Given the description of an element on the screen output the (x, y) to click on. 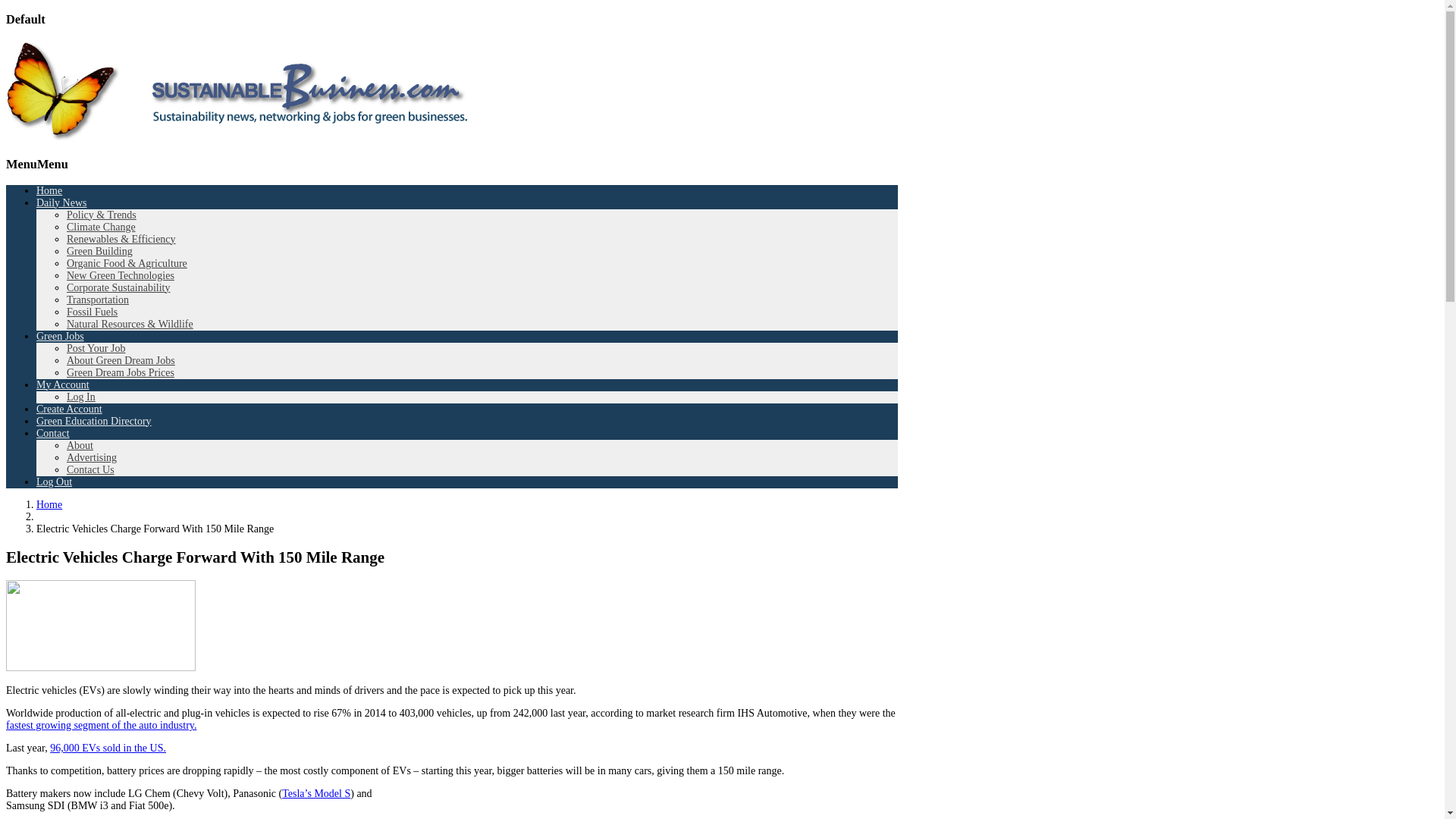
Climate Change (100, 226)
Log Out (53, 481)
About Green Dream Jobs (120, 360)
Contact Us (90, 469)
Create Account (68, 408)
Home (49, 504)
Advertising (91, 457)
Fossil Fuels (91, 311)
About (79, 445)
Green Building (99, 251)
Green Jobs (60, 336)
Green Education Directory (93, 420)
96,000 EVs sold in the US. (107, 747)
Daily News (61, 202)
Contact (52, 432)
